Given the description of an element on the screen output the (x, y) to click on. 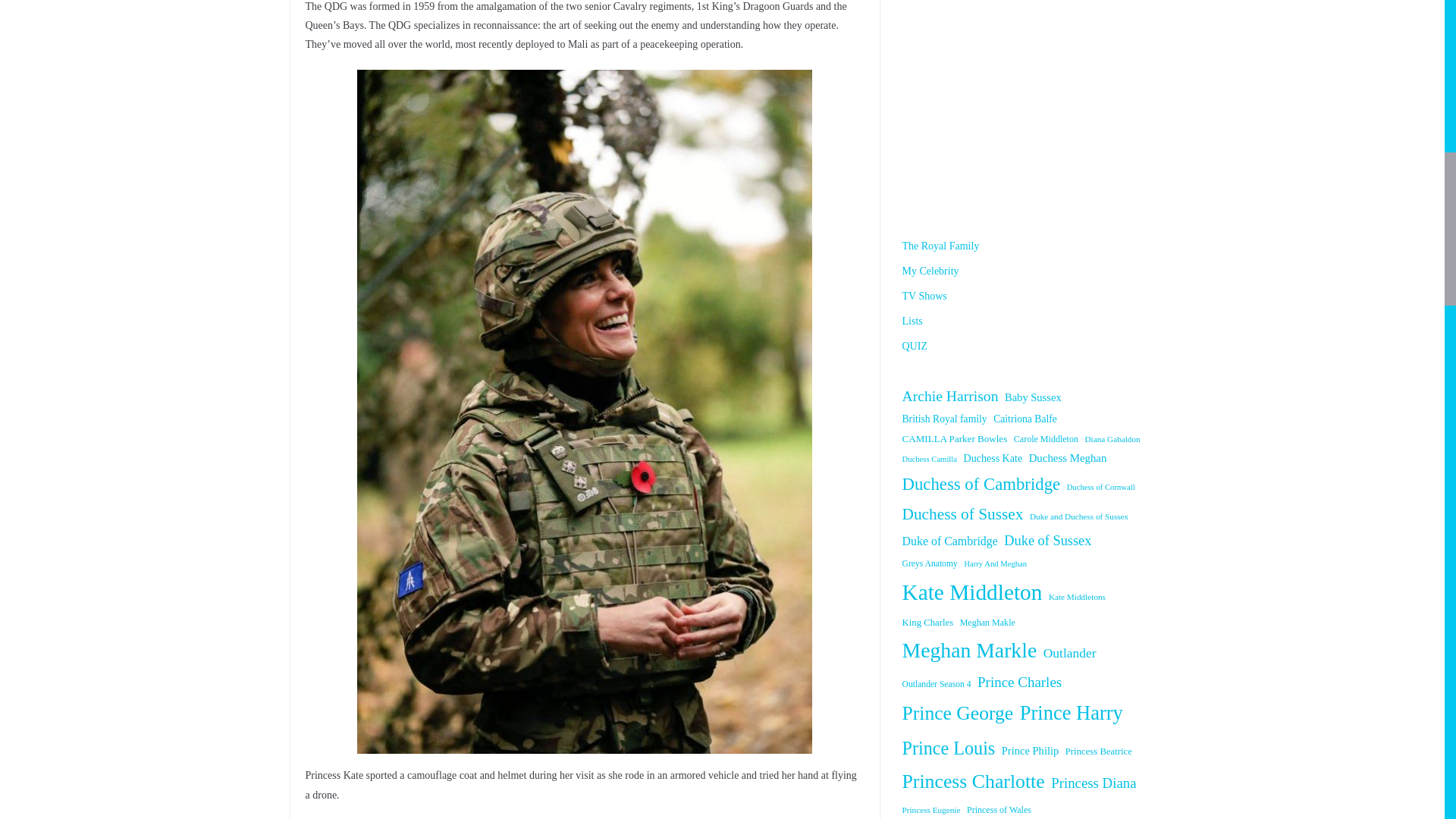
Duchess Meghan (1067, 457)
QUIZ (914, 346)
Carole Middleton (1045, 439)
CAMILLA Parker Bowles (954, 438)
My Celebrity (930, 270)
The Royal Family (940, 245)
TV Shows (924, 296)
The Celebrity Castle (1028, 101)
Baby Sussex (1032, 397)
Diana Gabaldon (1112, 438)
